Given the description of an element on the screen output the (x, y) to click on. 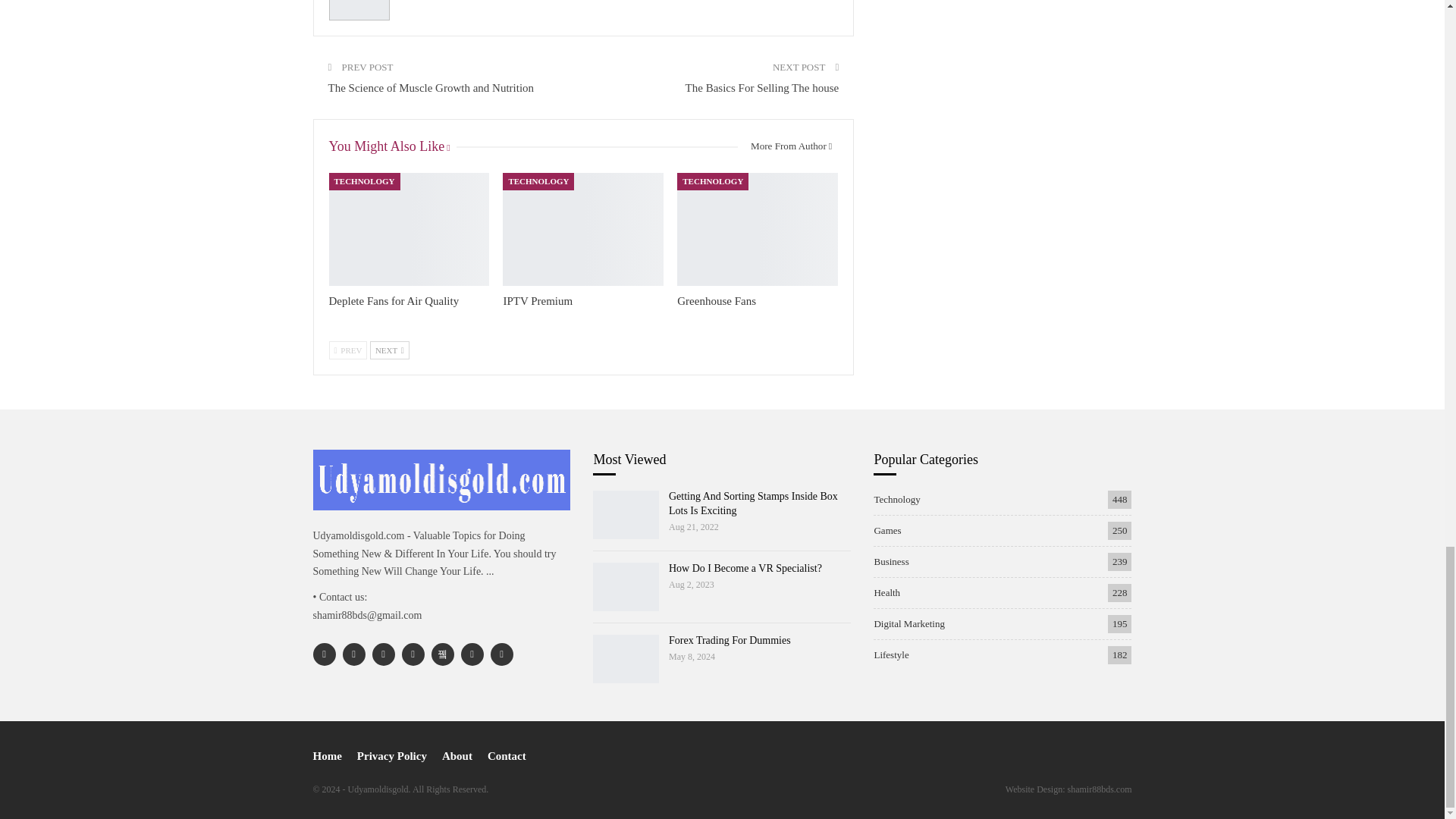
IPTV Premium (582, 228)
Deplete Fans for Air Quality (409, 228)
IPTV Premium (537, 300)
Deplete Fans for Air Quality (394, 300)
